Given the description of an element on the screen output the (x, y) to click on. 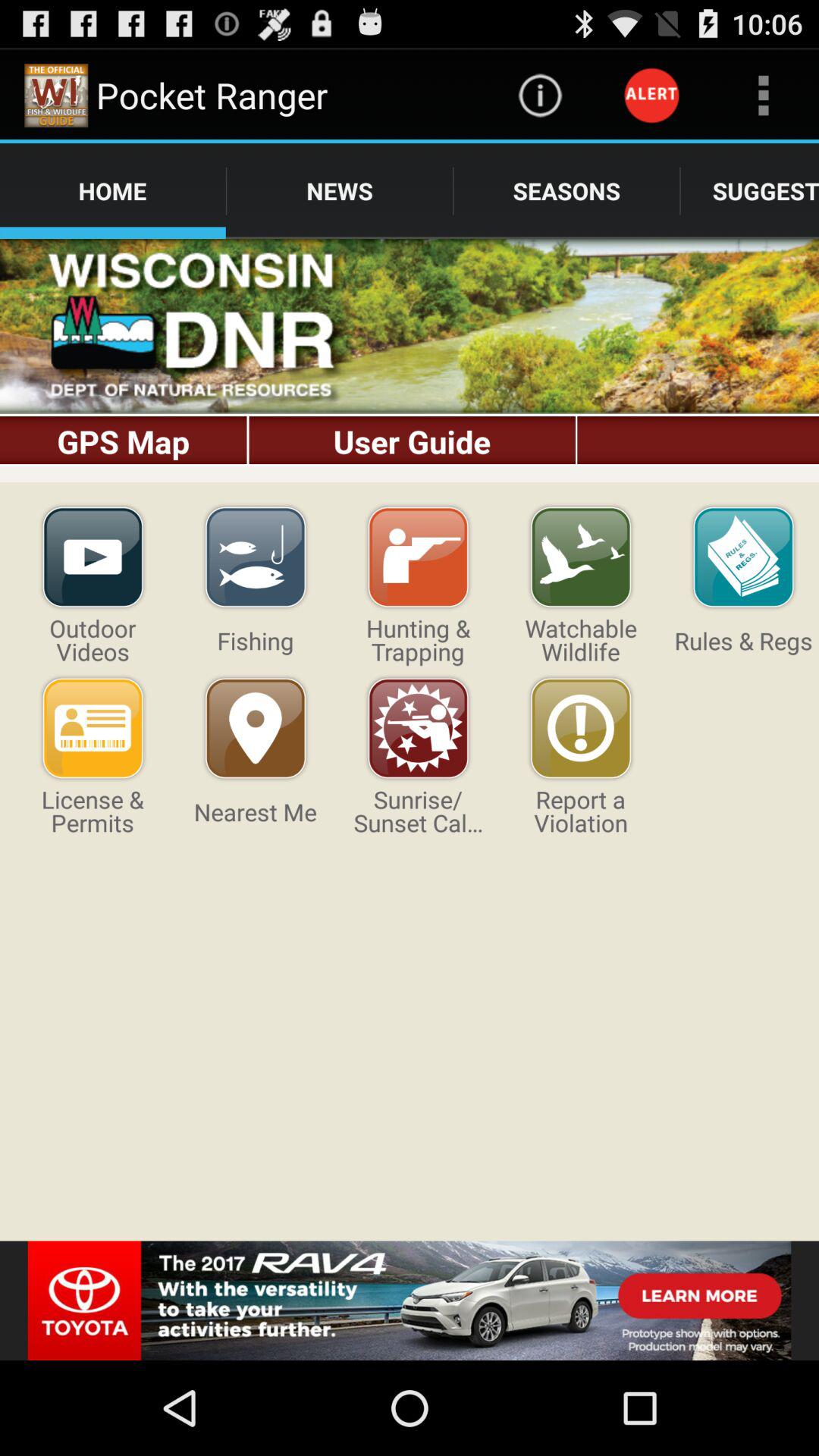
home menu (409, 360)
